Given the description of an element on the screen output the (x, y) to click on. 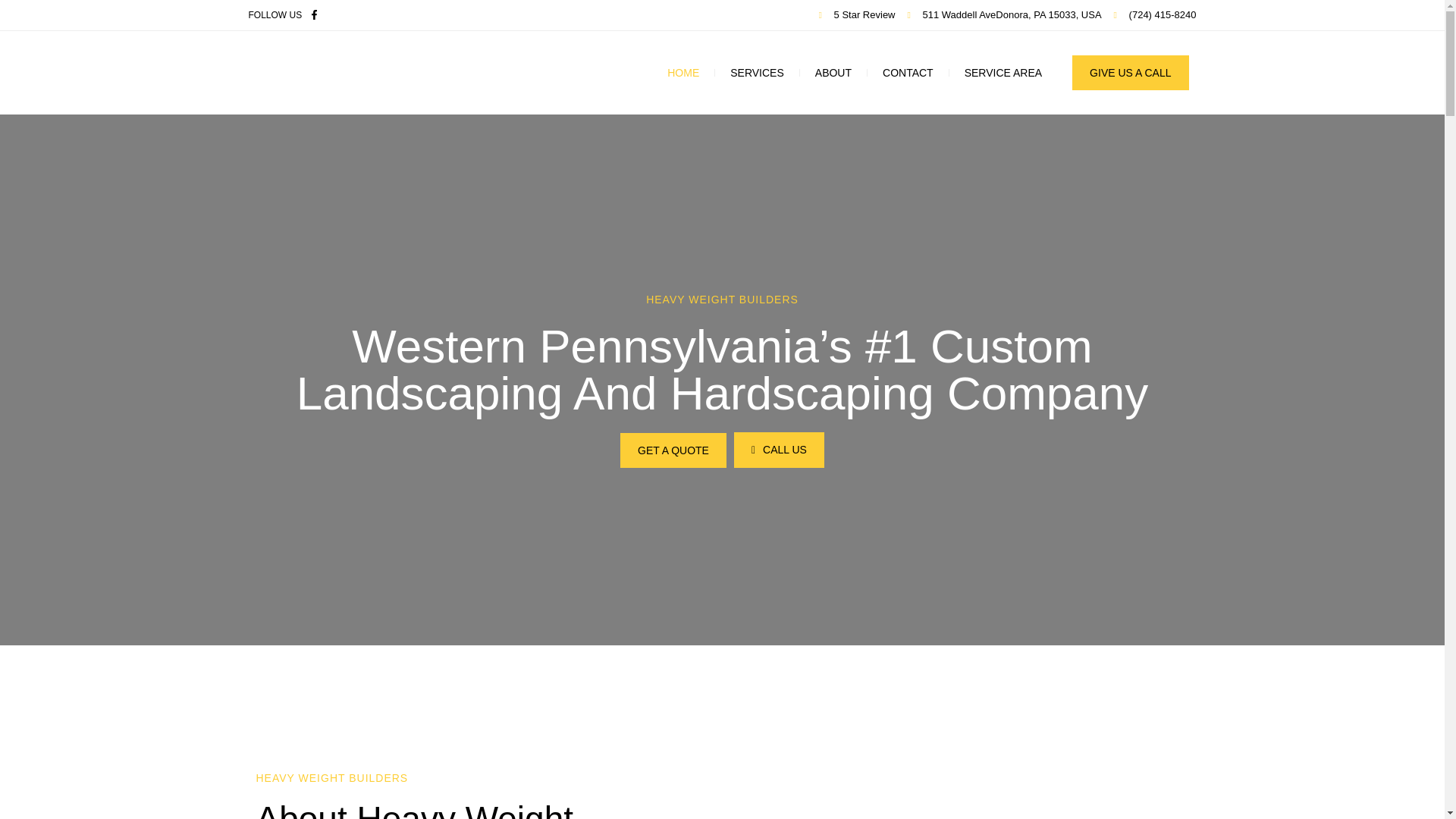
ABOUT (832, 72)
SERVICES (756, 72)
CALL US (778, 449)
SERVICE AREA (1003, 72)
511 Waddell AveDonora, PA 15033, USA (1003, 14)
GET A QUOTE (673, 450)
CONTACT (908, 72)
HOME (683, 72)
GIVE US A CALL (1129, 72)
